Given the description of an element on the screen output the (x, y) to click on. 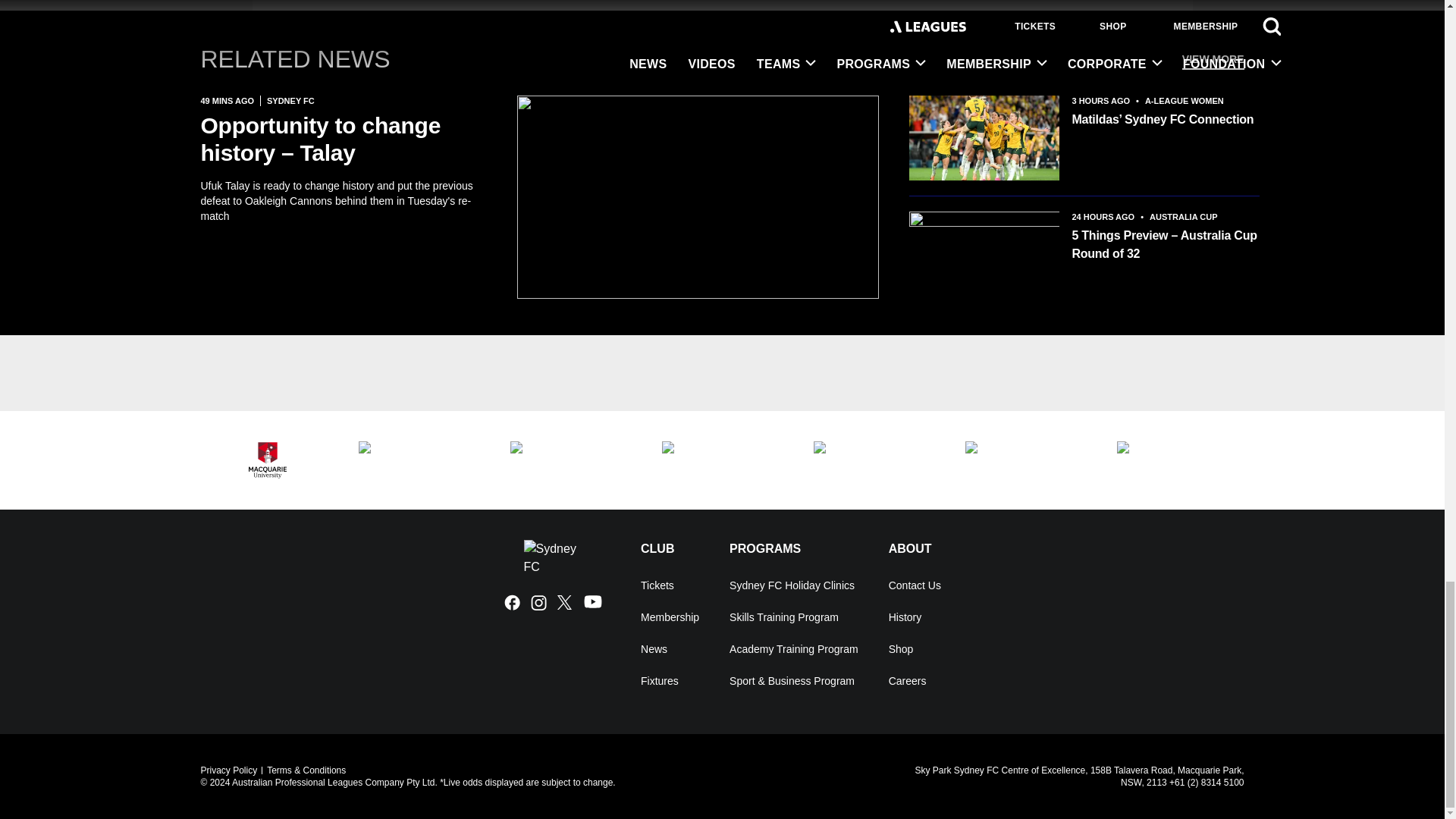
Navarra (1024, 460)
Under Armour (569, 460)
Kennards (418, 460)
Carma (873, 460)
McDonalds (722, 460)
BULOVA (1176, 460)
Macquarie Uni (266, 460)
